Given the description of an element on the screen output the (x, y) to click on. 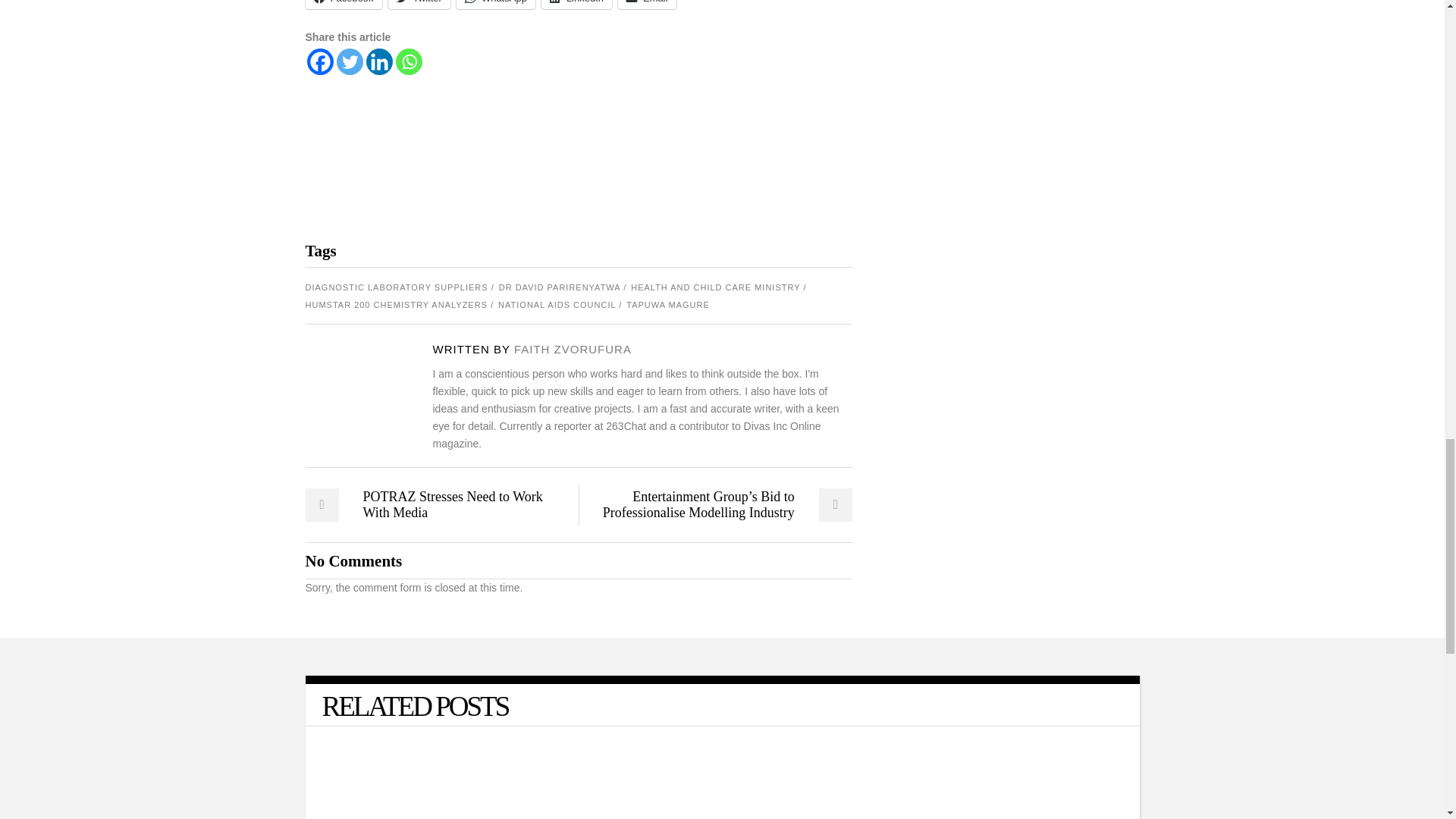
Click to email a link to a friend (647, 4)
Twitter (349, 61)
Linkedin (378, 61)
Click to share on WhatsApp (496, 4)
Whatsapp (409, 61)
Facebook (319, 61)
Click to share on Twitter (418, 4)
Click to share on Facebook (342, 4)
Click to share on LinkedIn (576, 4)
